Given the description of an element on the screen output the (x, y) to click on. 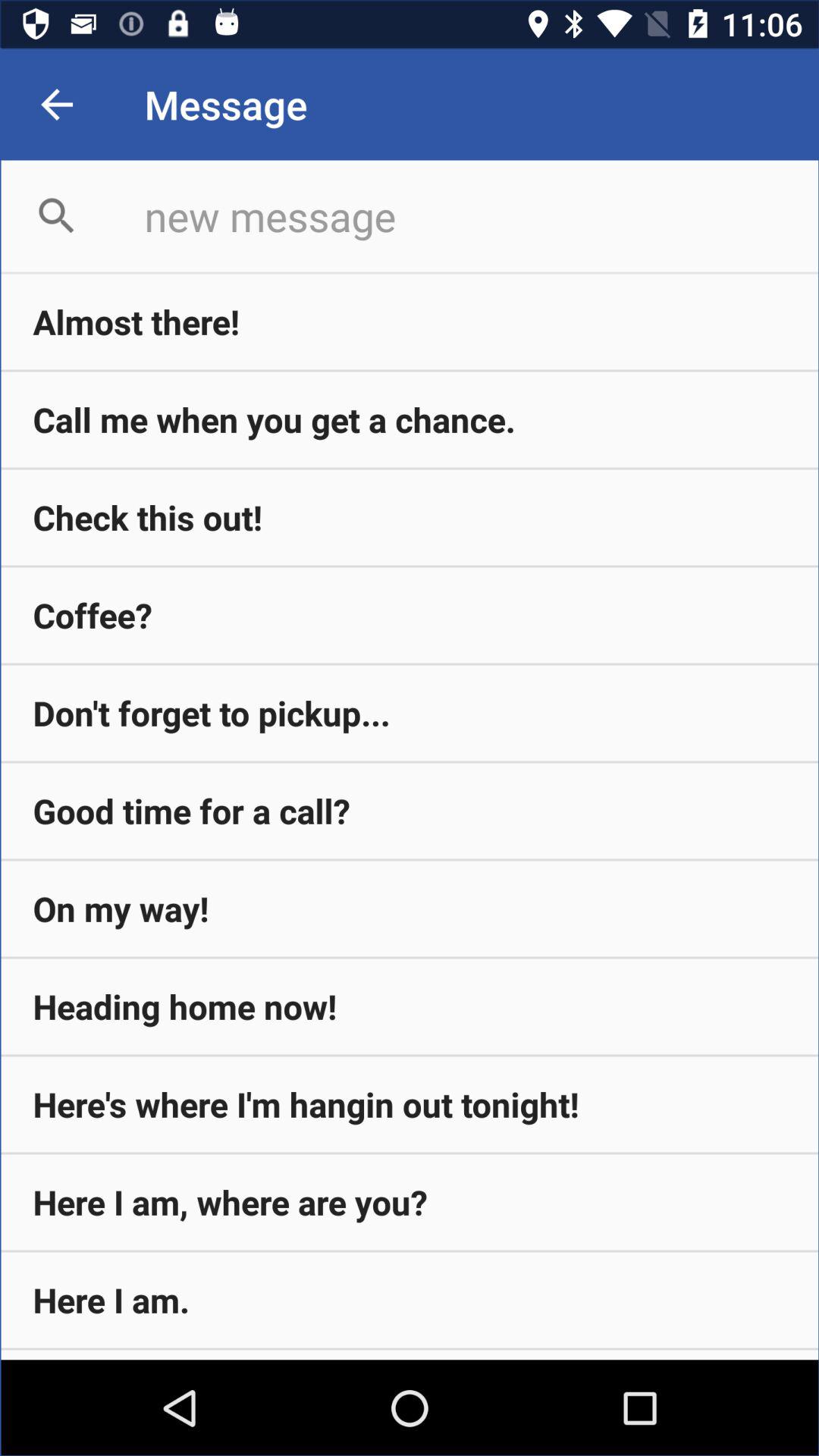
scroll until don t forget item (409, 712)
